Given the description of an element on the screen output the (x, y) to click on. 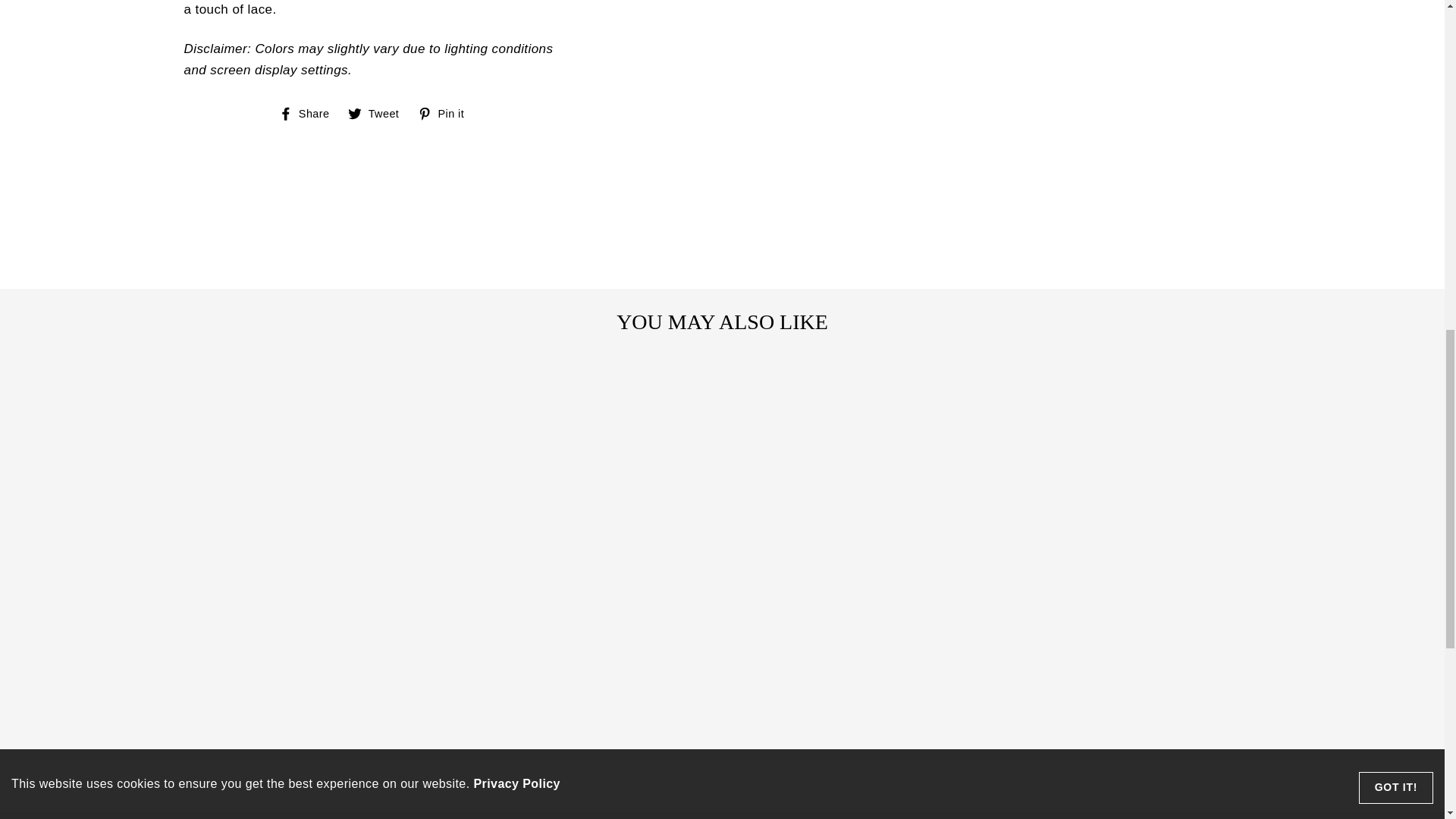
Tweet on Twitter (378, 113)
Share on Facebook (309, 113)
Pin on Pinterest (446, 113)
